Given the description of an element on the screen output the (x, y) to click on. 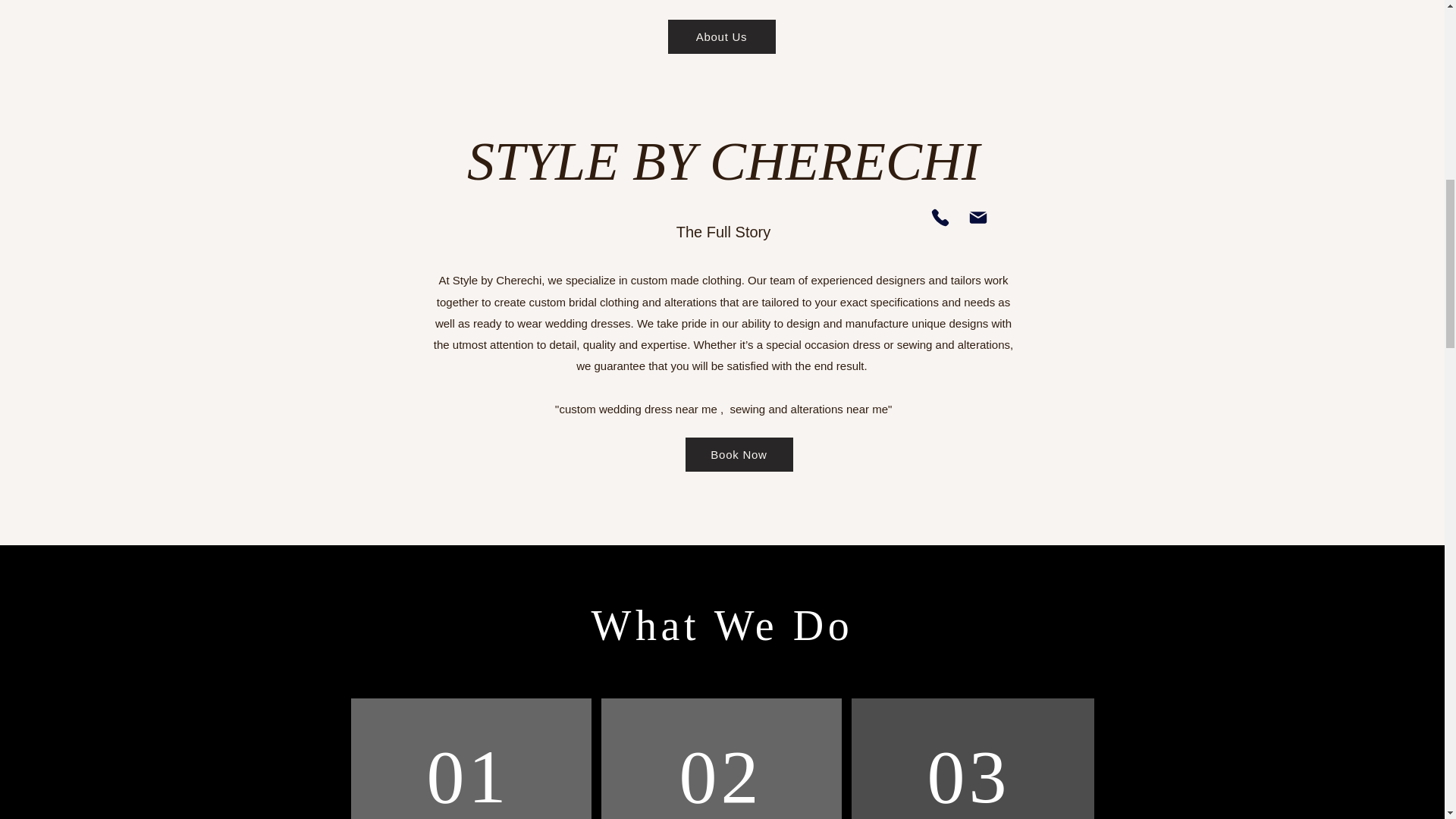
About Us (720, 36)
Book Now (739, 454)
